Given the description of an element on the screen output the (x, y) to click on. 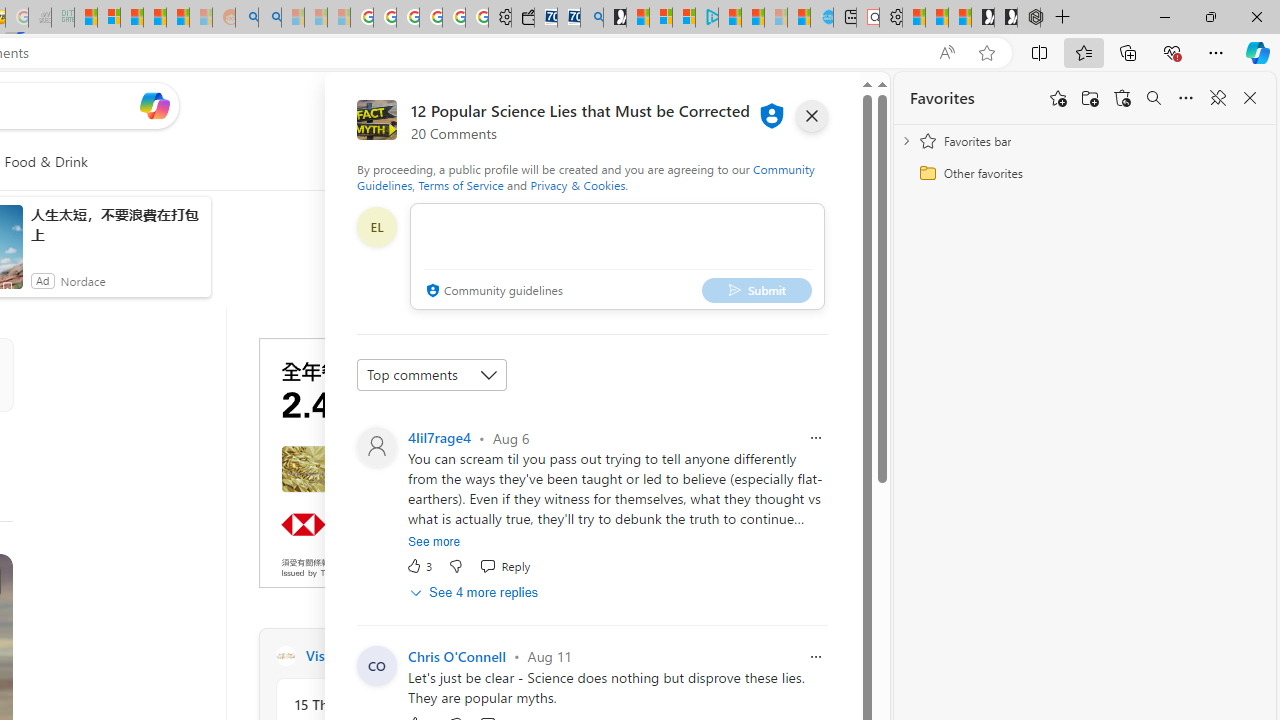
Class: qc-adchoices-icon (549, 345)
